Given the description of an element on the screen output the (x, y) to click on. 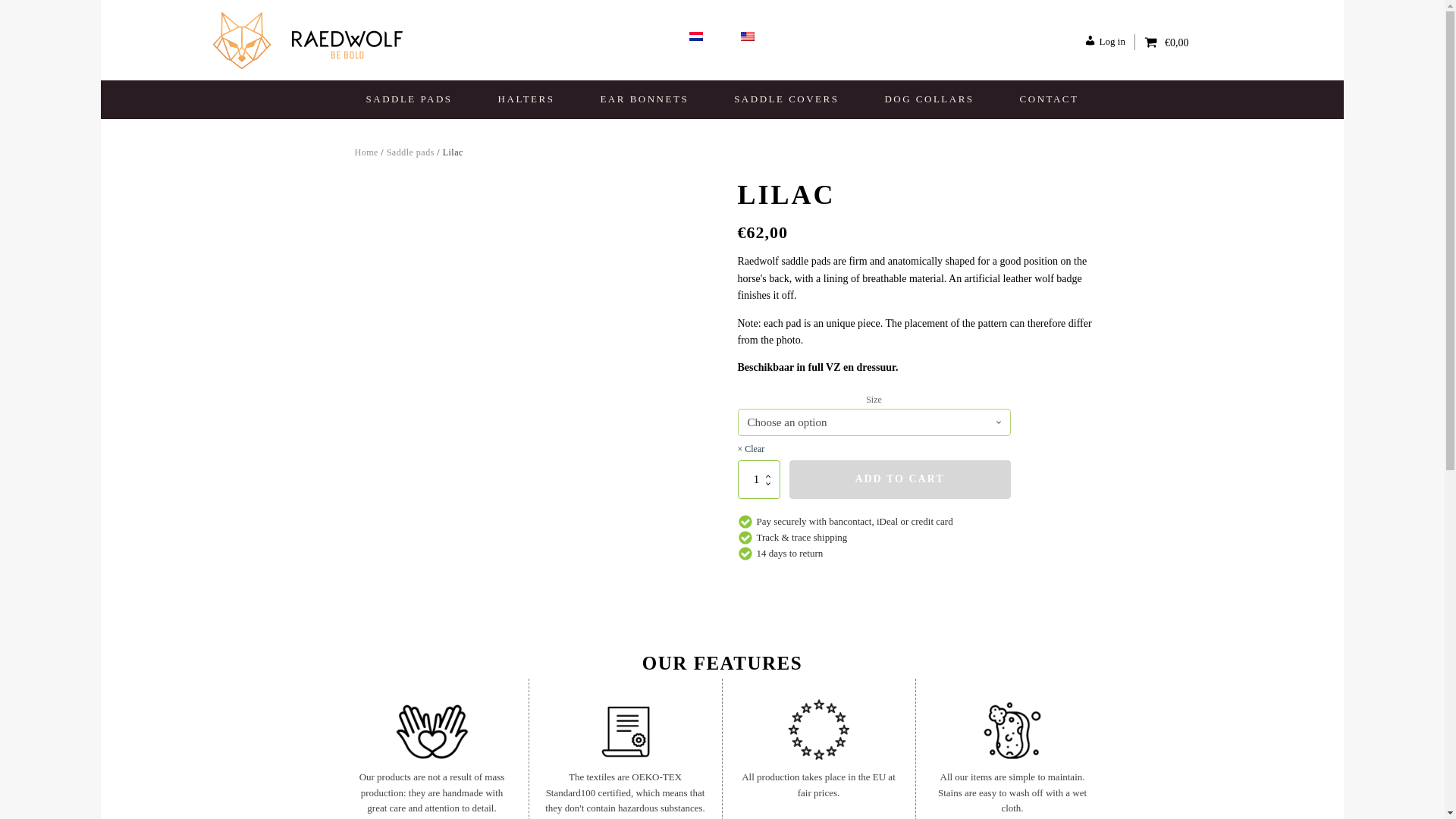
Saddle pads (410, 152)
CONTACT (1049, 99)
1 (757, 479)
Log in (1109, 41)
EAR BONNETS (643, 99)
DOG COLLARS (928, 99)
Clear (750, 448)
Nederlands (695, 35)
HALTERS (527, 99)
ADD TO CART (899, 479)
